Given the description of an element on the screen output the (x, y) to click on. 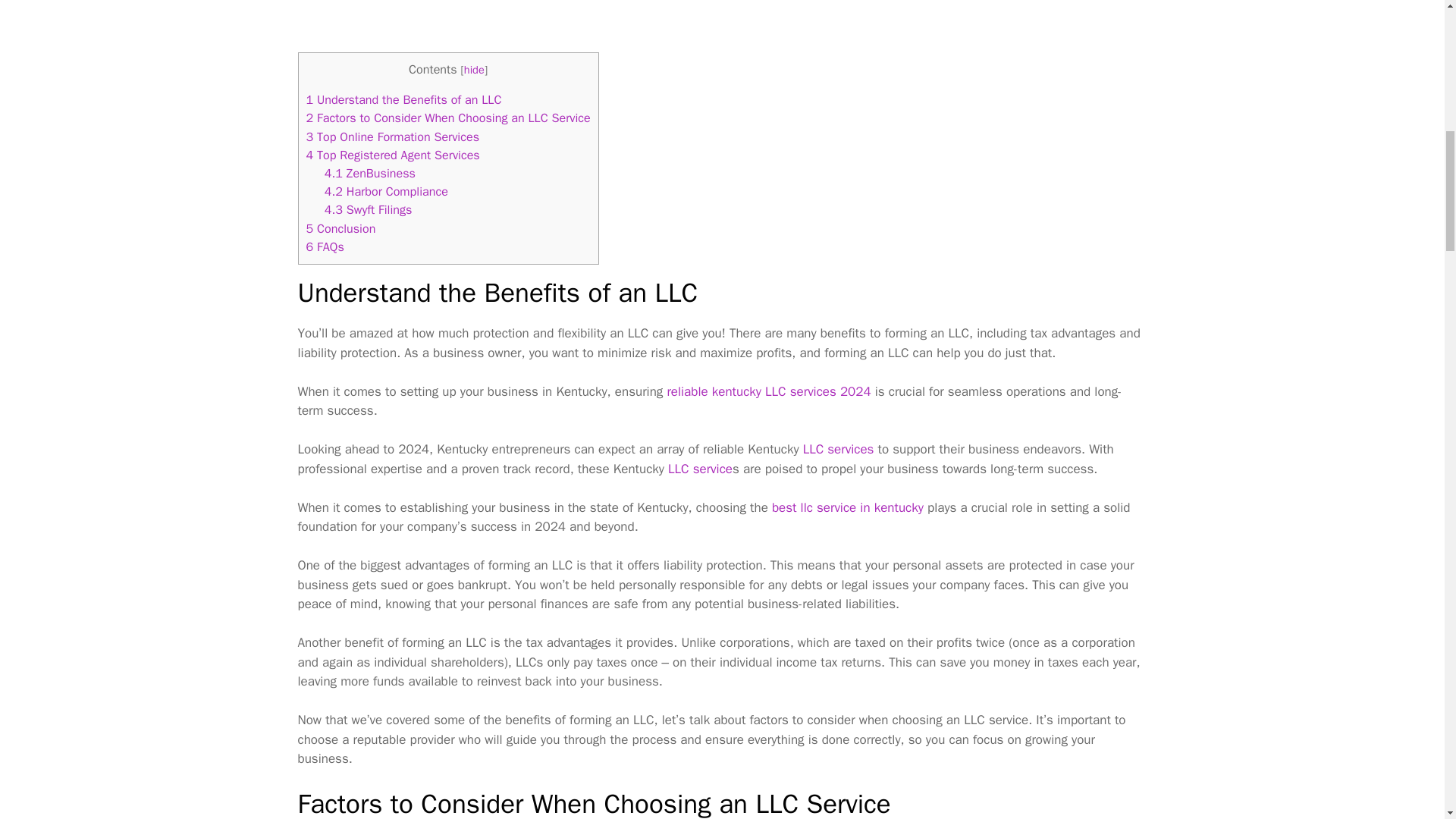
1 Understand the Benefits of an LLC (403, 99)
Get the Most Affordable Cheap LLC Solutions in 2023 (700, 468)
The Top 2024 Kentucky LLC Services to Propel Your Business (847, 507)
3 Top Online Formation Services (392, 136)
hide (474, 69)
4.1 ZenBusiness (369, 172)
2 Factors to Consider When Choosing an LLC Service (448, 117)
4 Top Registered Agent Services (392, 154)
Get the Most Affordable Cheap LLC Solutions in 2023 (839, 449)
